Given the description of an element on the screen output the (x, y) to click on. 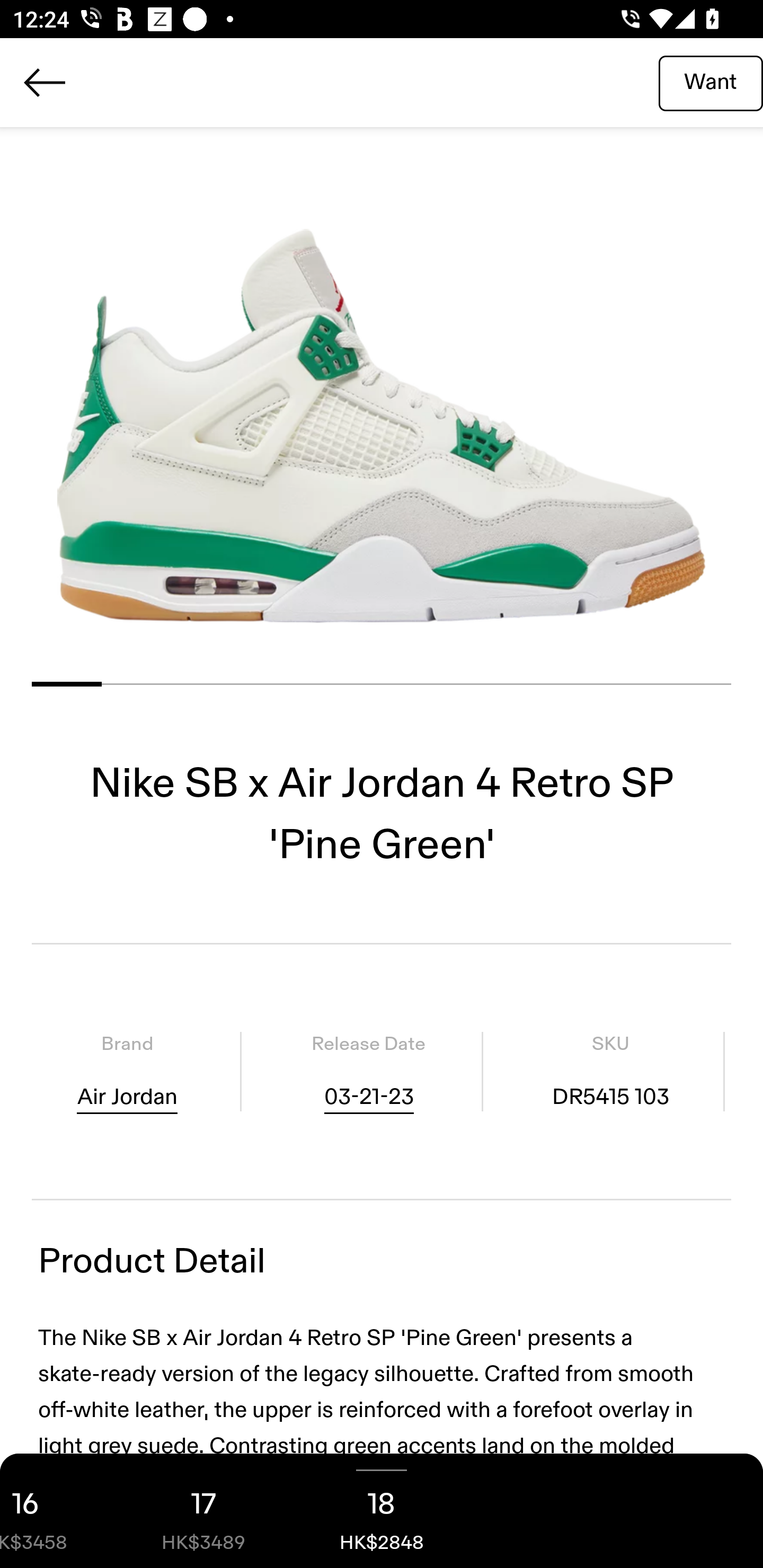
Want (710, 82)
Brand Air Jordan (126, 1070)
Release Date 03-21-23 (368, 1070)
SKU DR5415 103 (609, 1070)
16 HK$3458 (57, 1510)
17 HK$3489 (203, 1510)
18 HK$2848 (381, 1510)
